Given the description of an element on the screen output the (x, y) to click on. 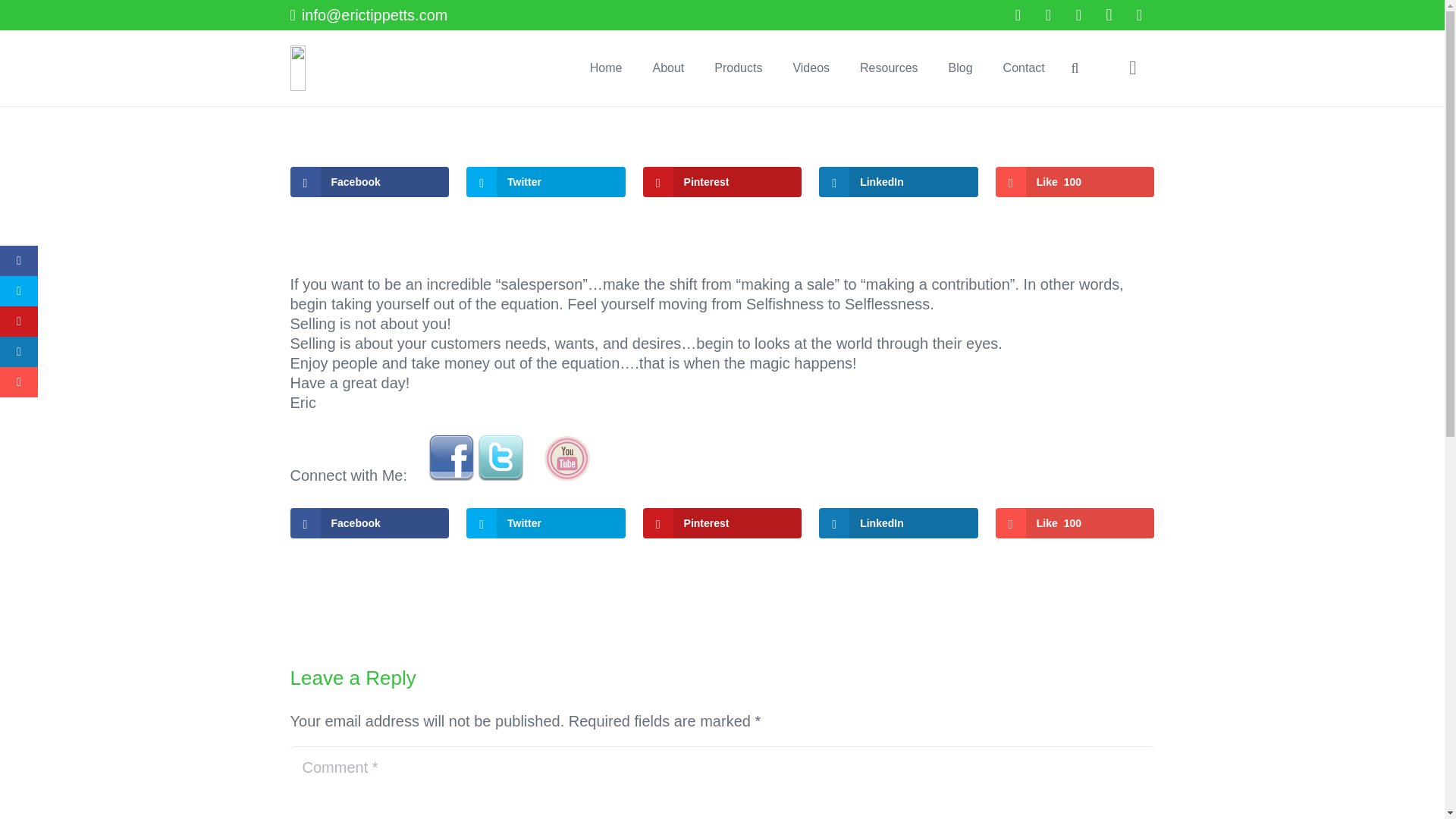
Instagram (1109, 15)
Twitter (545, 182)
Pinterest (1139, 15)
Facebook (368, 522)
LinkedIn (898, 182)
Videos (810, 68)
Facebook (368, 182)
Pinterest (722, 182)
Resources (888, 68)
Twitter (1048, 15)
Twitter (545, 522)
Contact (1023, 68)
Facebook (1018, 15)
YouTube (1079, 15)
Like 100 (1074, 522)
